Given the description of an element on the screen output the (x, y) to click on. 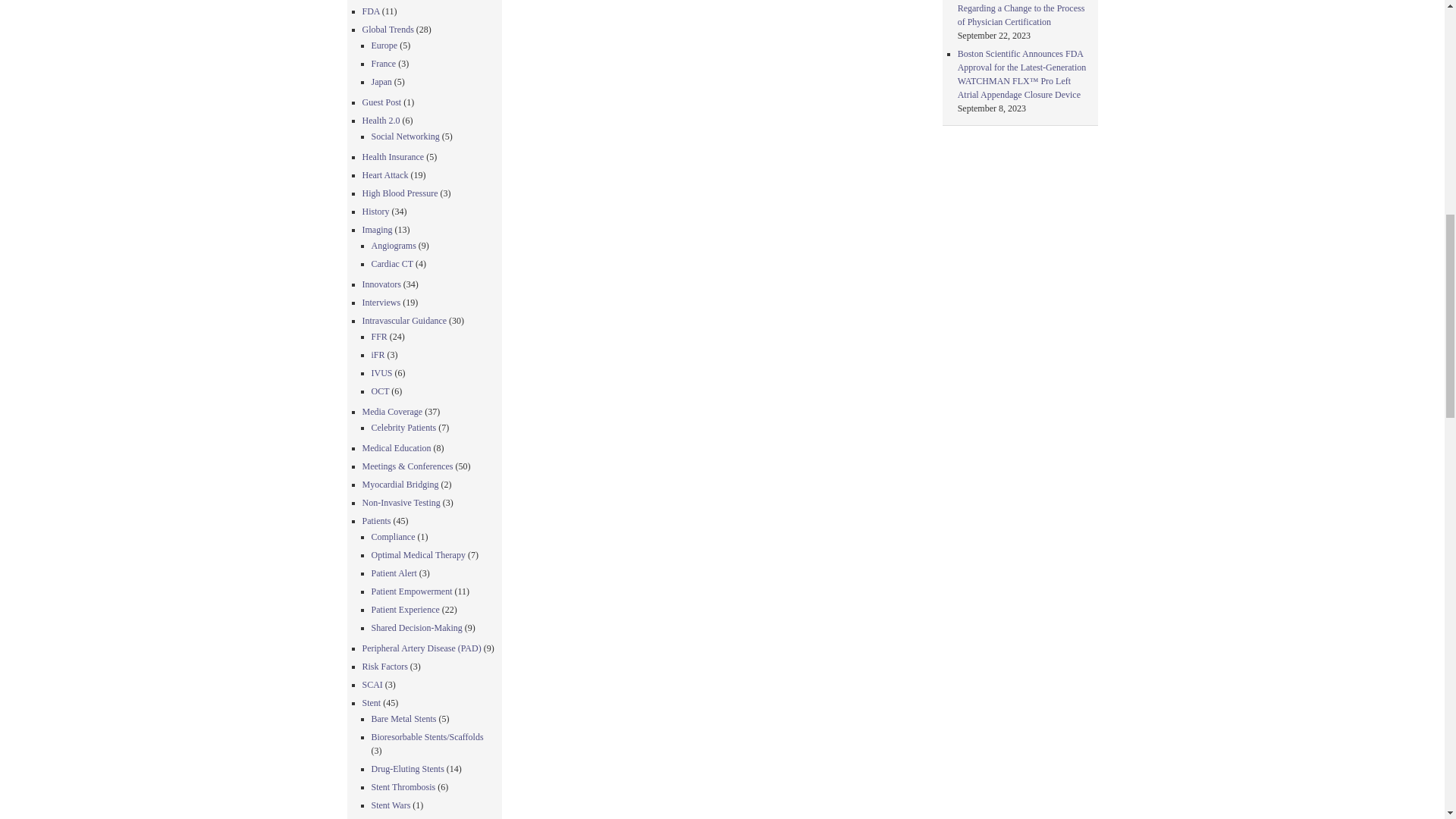
Global Trends (387, 29)
Health 2.0 (381, 120)
Guest Post (381, 102)
France (383, 63)
Japan (381, 81)
Europe (384, 45)
FDA (371, 10)
